Given the description of an element on the screen output the (x, y) to click on. 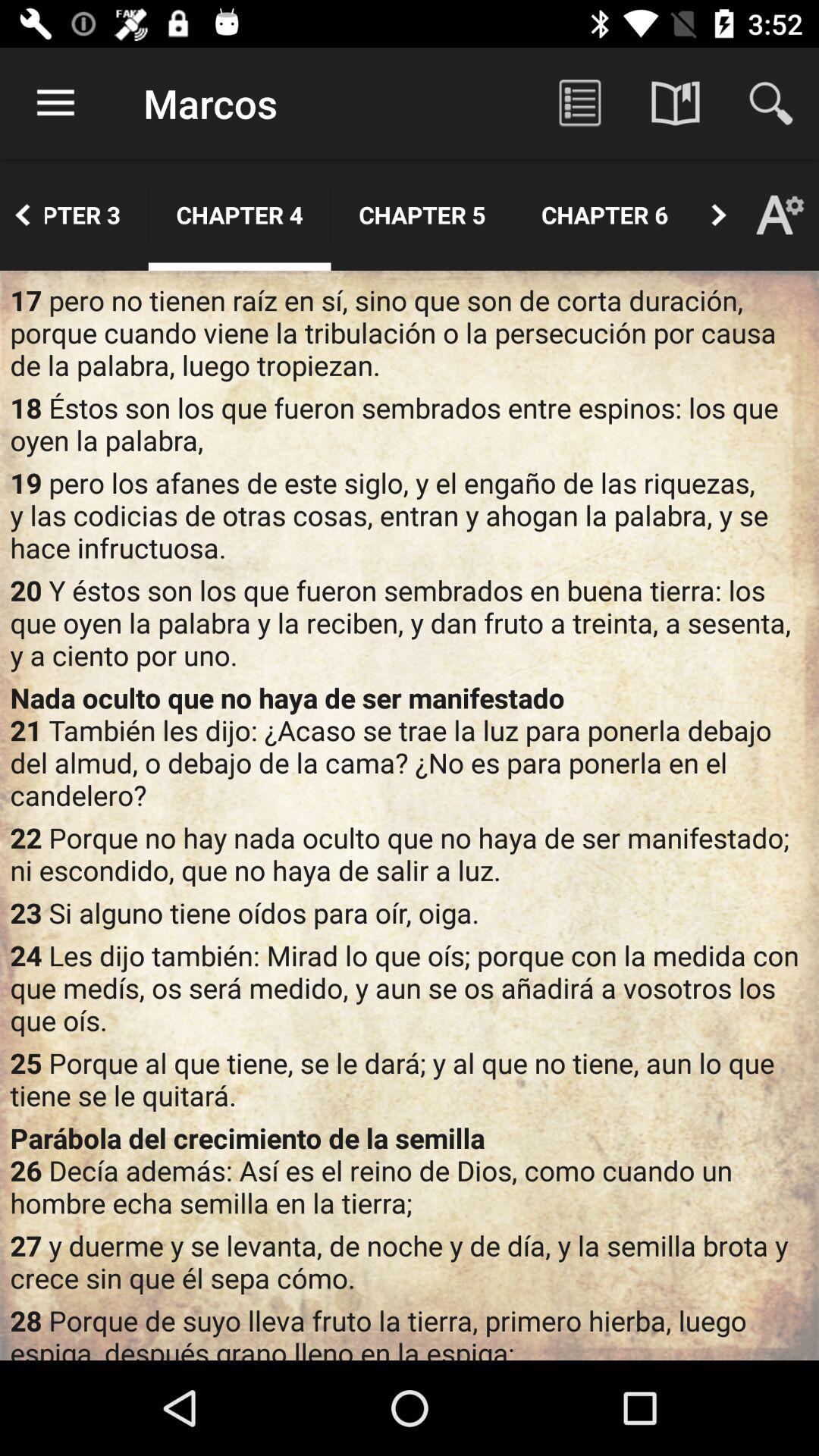
scroll until chapter 6 item (604, 214)
